Given the description of an element on the screen output the (x, y) to click on. 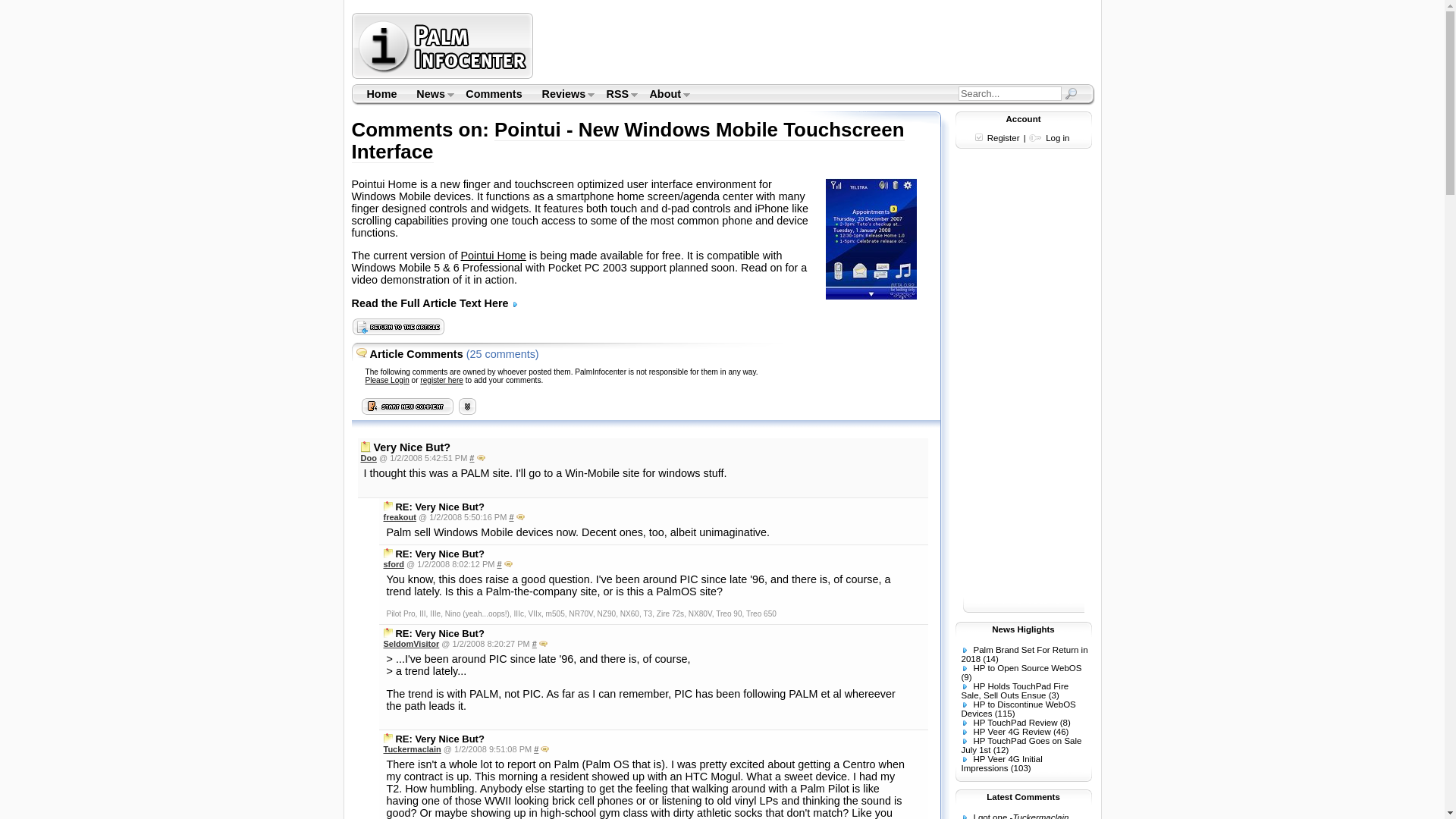
Jump to the bottom (467, 406)
Sign In (387, 379)
Reply with Quote (480, 457)
Reply with Quote (507, 563)
Reply with Quote (542, 643)
Pointui - New Windows Mobile Touchscreen Interface (628, 140)
Permalink (534, 643)
Search... (1009, 93)
Go (1069, 93)
Permalink (536, 748)
Palm Infocenter Home (381, 94)
Permalink (471, 457)
Please Login (387, 379)
Register Here, it's quick and free (441, 379)
Permalink (498, 563)
